Given the description of an element on the screen output the (x, y) to click on. 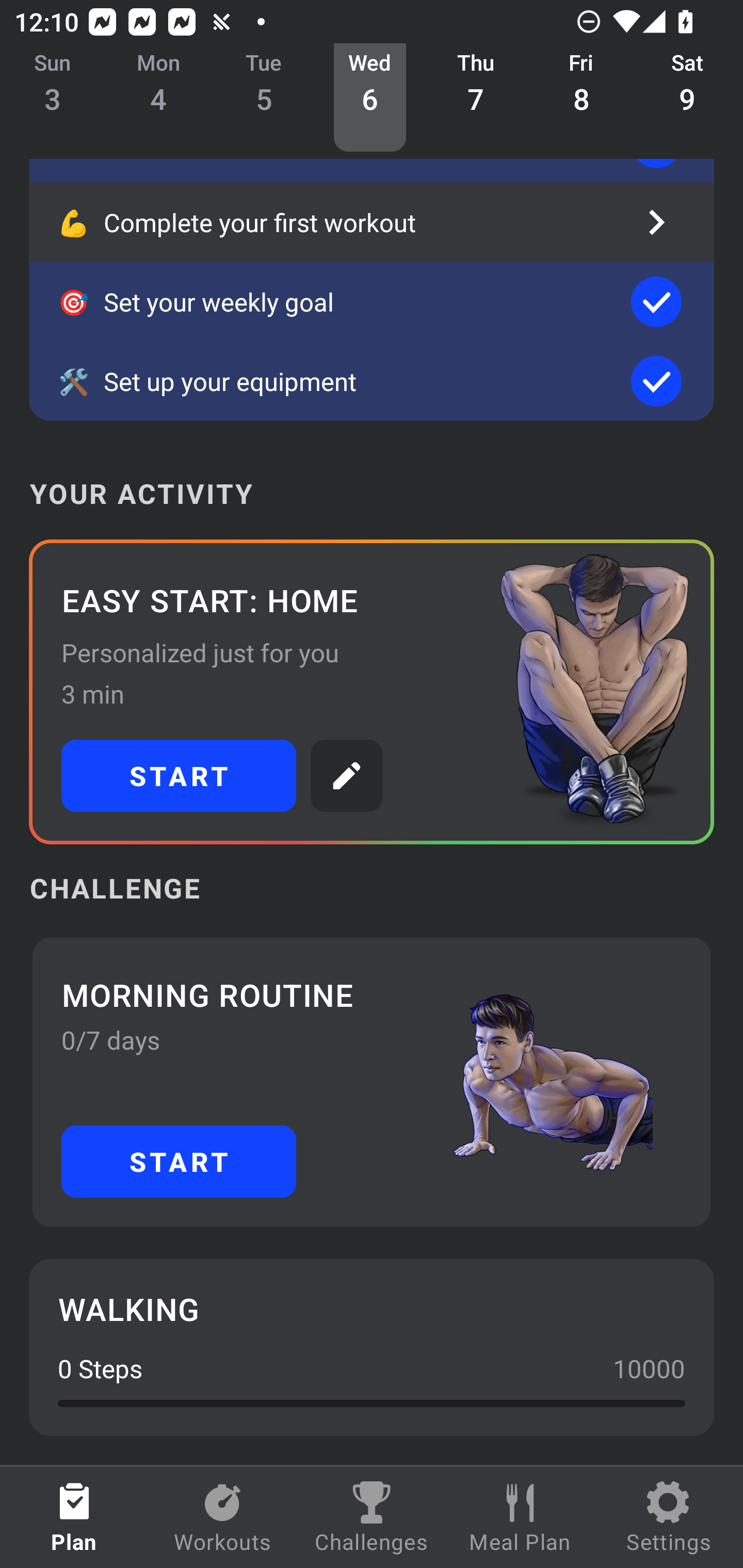
Sun 3 (52, 97)
Mon 4 (158, 97)
Tue 5 (264, 97)
Wed 6 (369, 97)
Thu 7 (475, 97)
Fri 8 (581, 97)
Sat 9 (687, 97)
💪 Complete your first workout (371, 221)
START (178, 776)
MORNING ROUTINE 0/7 days START (371, 1082)
START (178, 1161)
WALKING 0 Steps 10000 0.0 (371, 1347)
 Workouts  (222, 1517)
 Challenges  (371, 1517)
 Meal Plan  (519, 1517)
 Settings  (668, 1517)
